Given the description of an element on the screen output the (x, y) to click on. 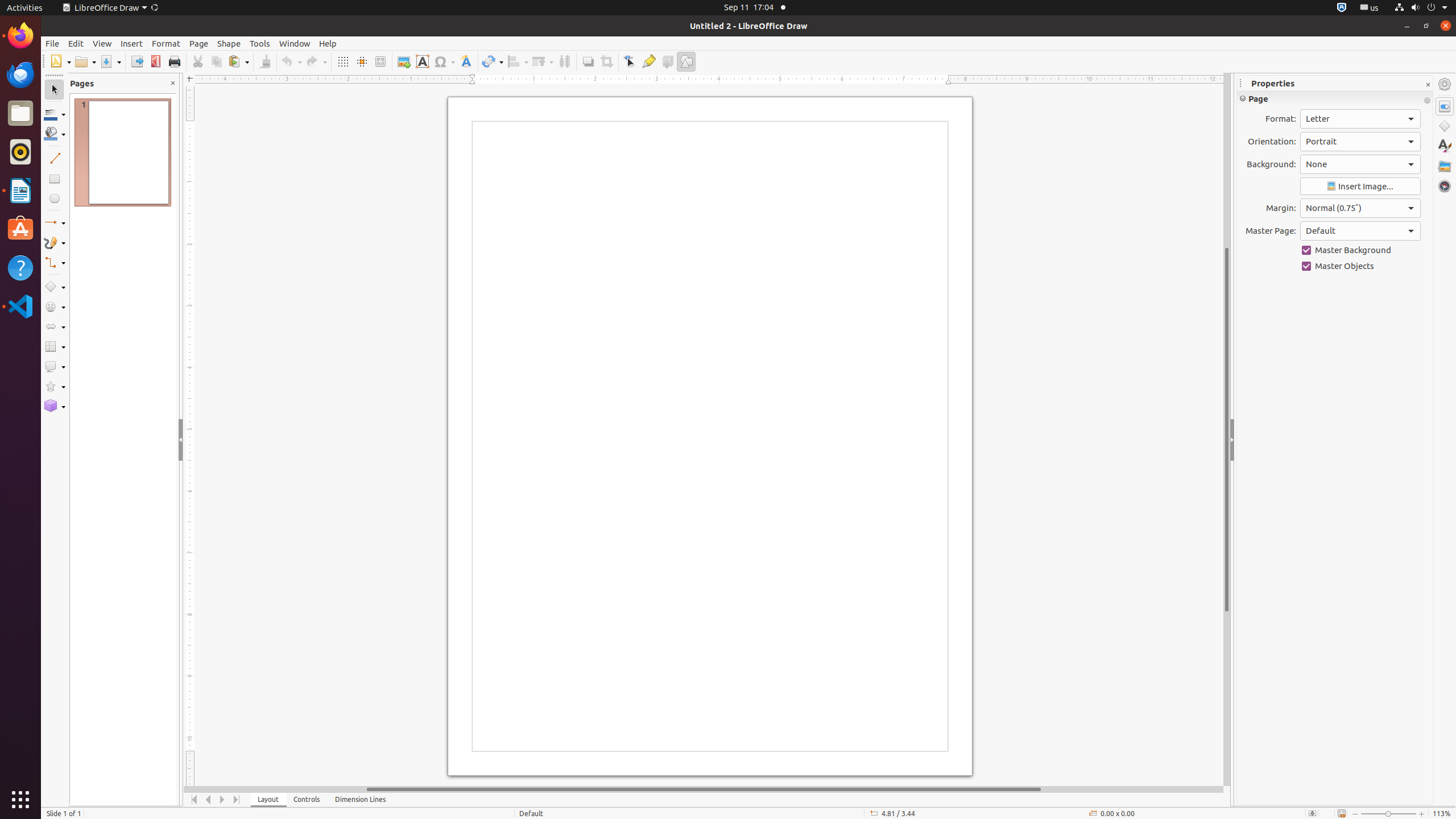
Rectangle Element type: push-button (53, 178)
Grid Element type: toggle-button (342, 61)
Navigator Element type: radio-button (1444, 185)
More Options Element type: push-button (1426, 100)
Page Element type: menu (198, 43)
